Given the description of an element on the screen output the (x, y) to click on. 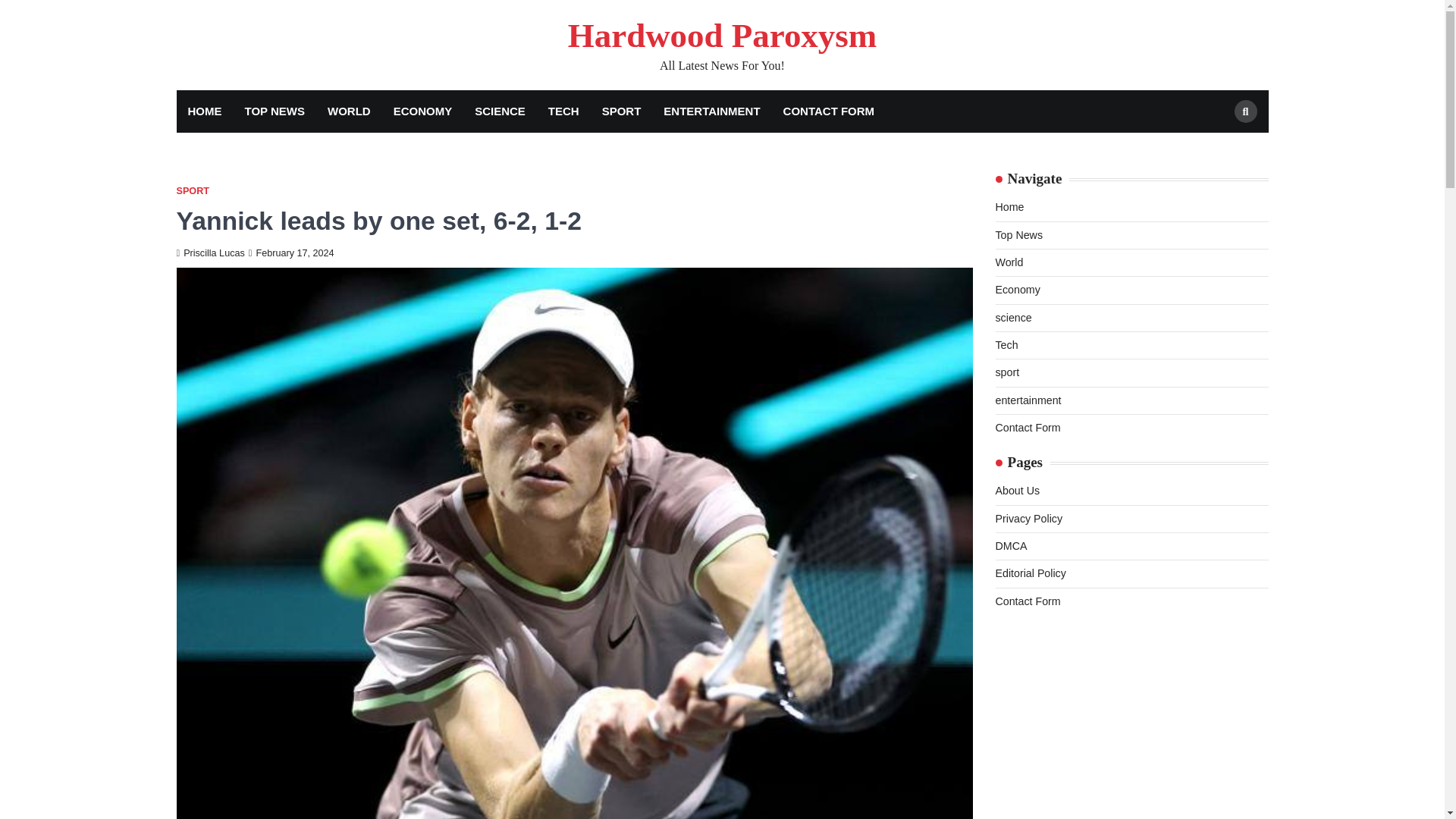
TOP NEWS (273, 111)
Privacy Policy (1028, 518)
WORLD (348, 111)
Home (1008, 206)
Hardwood Paroxysm (722, 35)
About Us (1016, 490)
Economy (1016, 289)
CONTACT FORM (828, 111)
Contact Form (1026, 427)
Search (1245, 110)
